Given the description of an element on the screen output the (x, y) to click on. 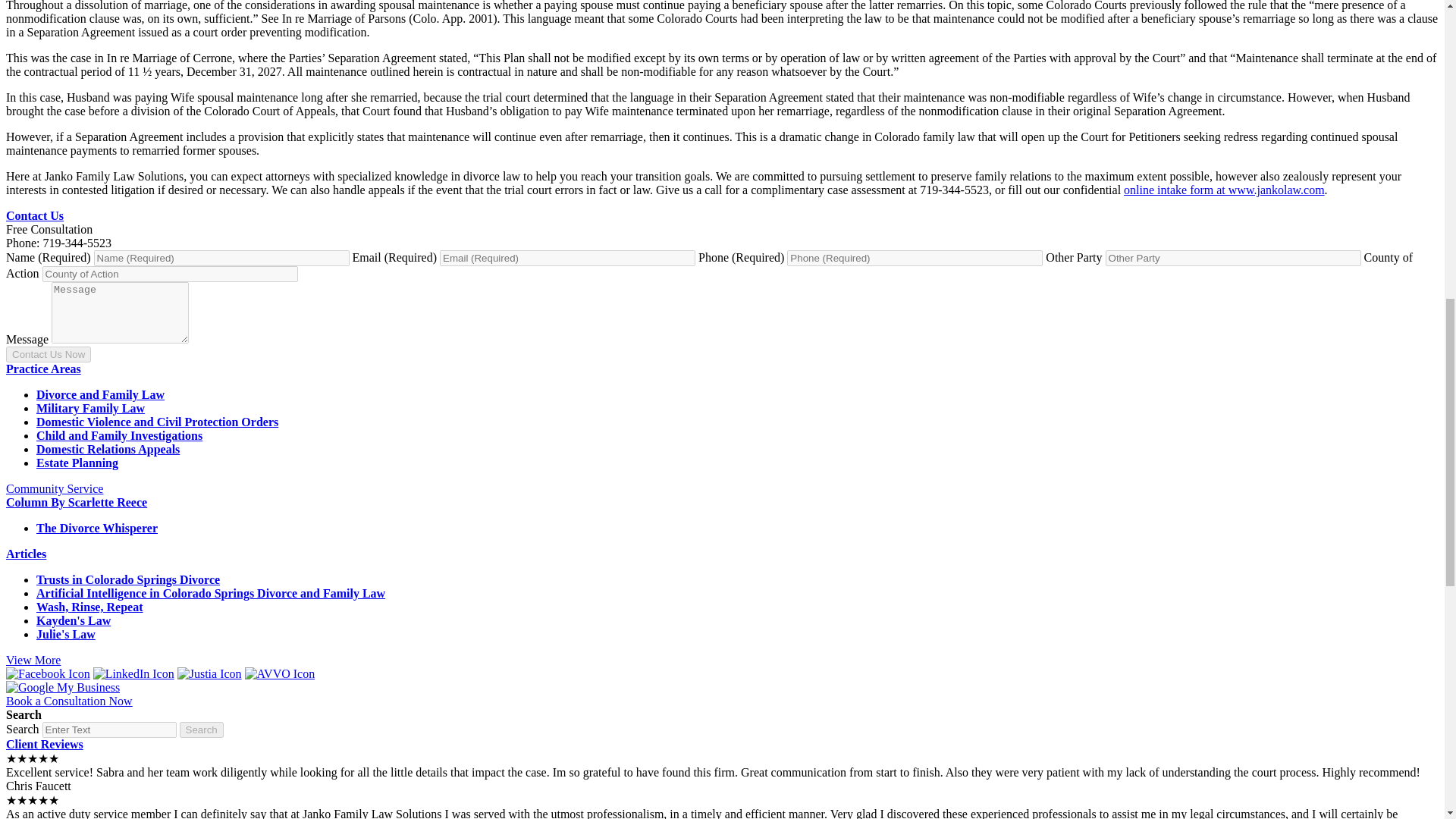
AVVO (279, 673)
Justia (209, 673)
Facebook (47, 673)
Search (109, 729)
LinkedIn (133, 673)
